Given the description of an element on the screen output the (x, y) to click on. 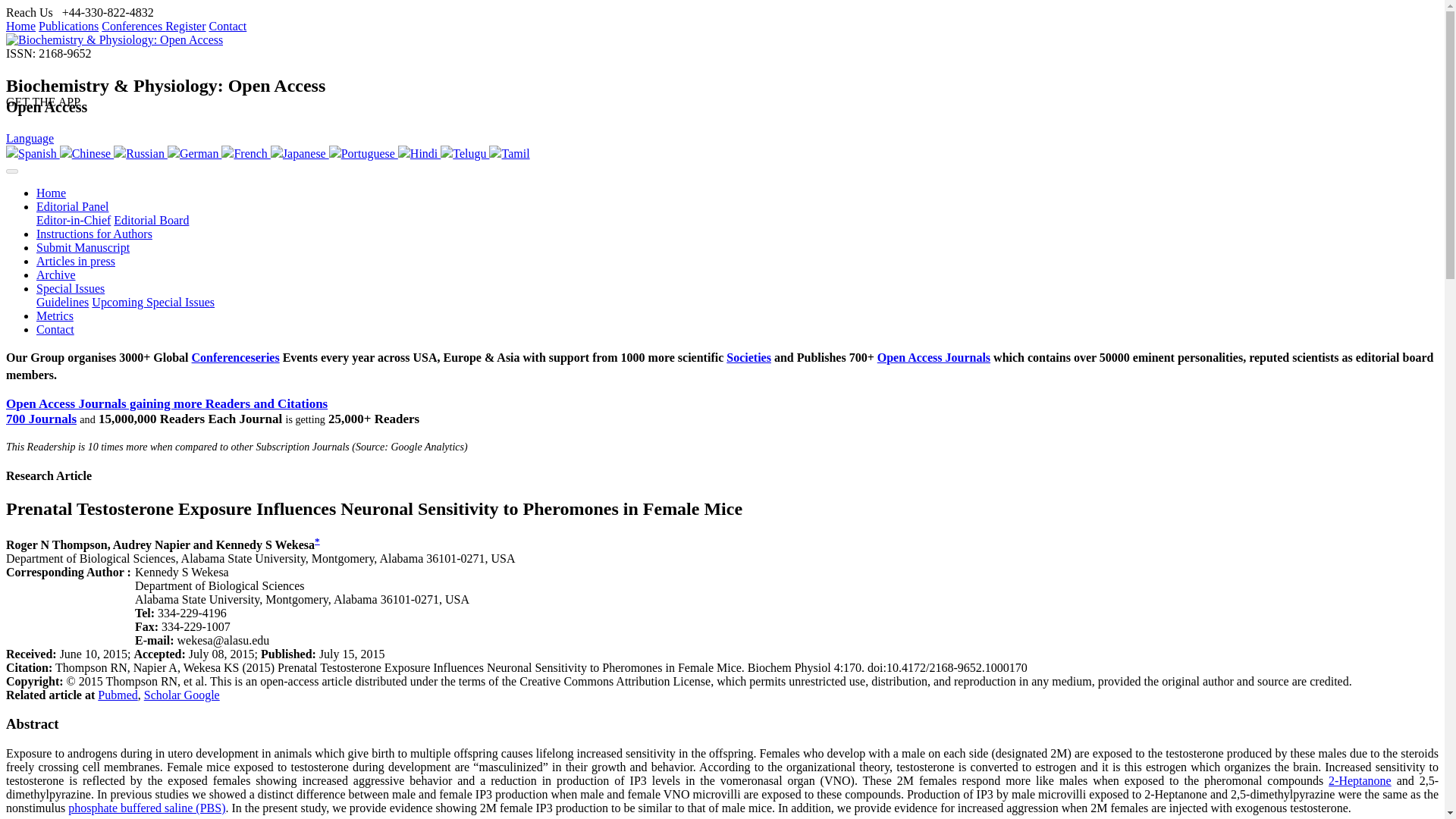
Tamil (509, 153)
Spanish (32, 153)
Register (185, 25)
Portuguese (363, 153)
Japanese (299, 153)
Contact (228, 25)
French (245, 153)
Russian (140, 153)
Telugu (465, 153)
Editorial Panel (72, 205)
Instructions for Authors (94, 233)
Hindi (419, 153)
Language (29, 137)
Chinese (87, 153)
Conferences (133, 25)
